Given the description of an element on the screen output the (x, y) to click on. 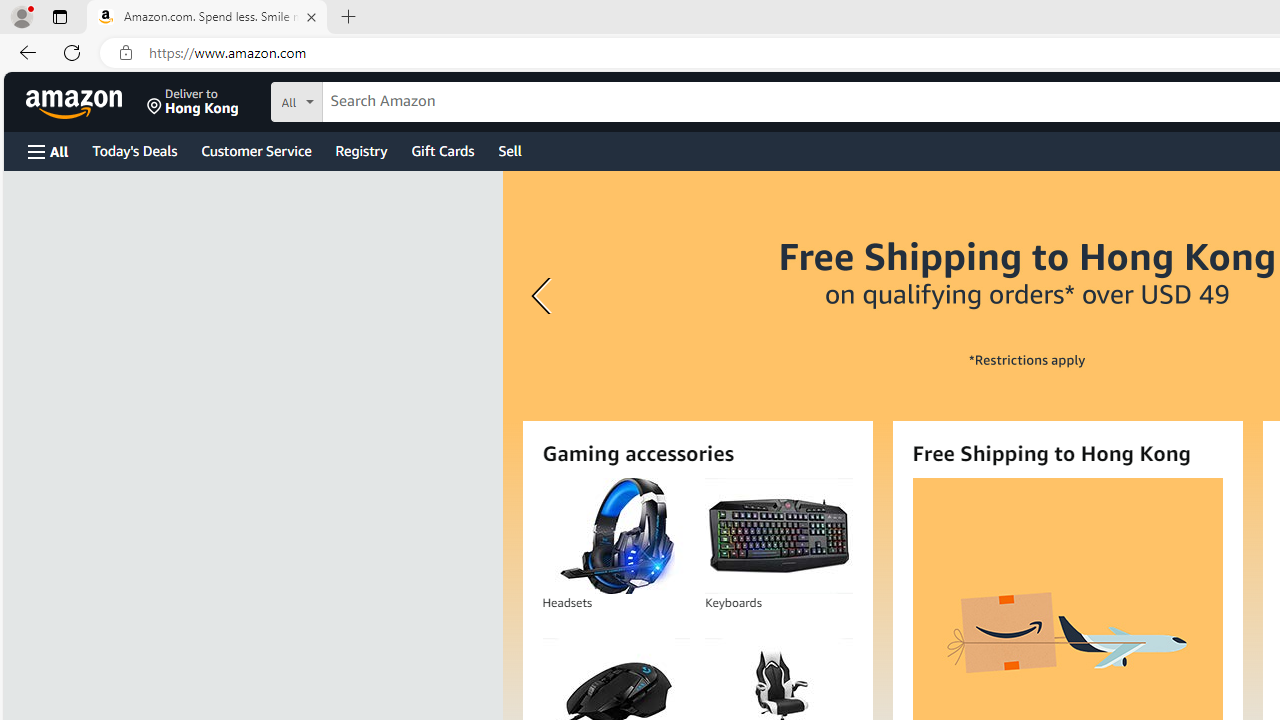
Gift Cards (442, 150)
Source Control (Ctrl+Shift+G) (24, 155)
Amazon.com. Spend less. Smile more. (207, 17)
test.py (363, 52)
del.py (604, 52)
Close (Ctrl+F4) (648, 52)
Extensions (Ctrl+Shift+X) (24, 250)
Go (235, 16)
Search (Ctrl+Shift+F) (24, 106)
Today's Deals (134, 150)
Explorer Section: windows_crawler (175, 80)
Headsets (615, 536)
